Given the description of an element on the screen output the (x, y) to click on. 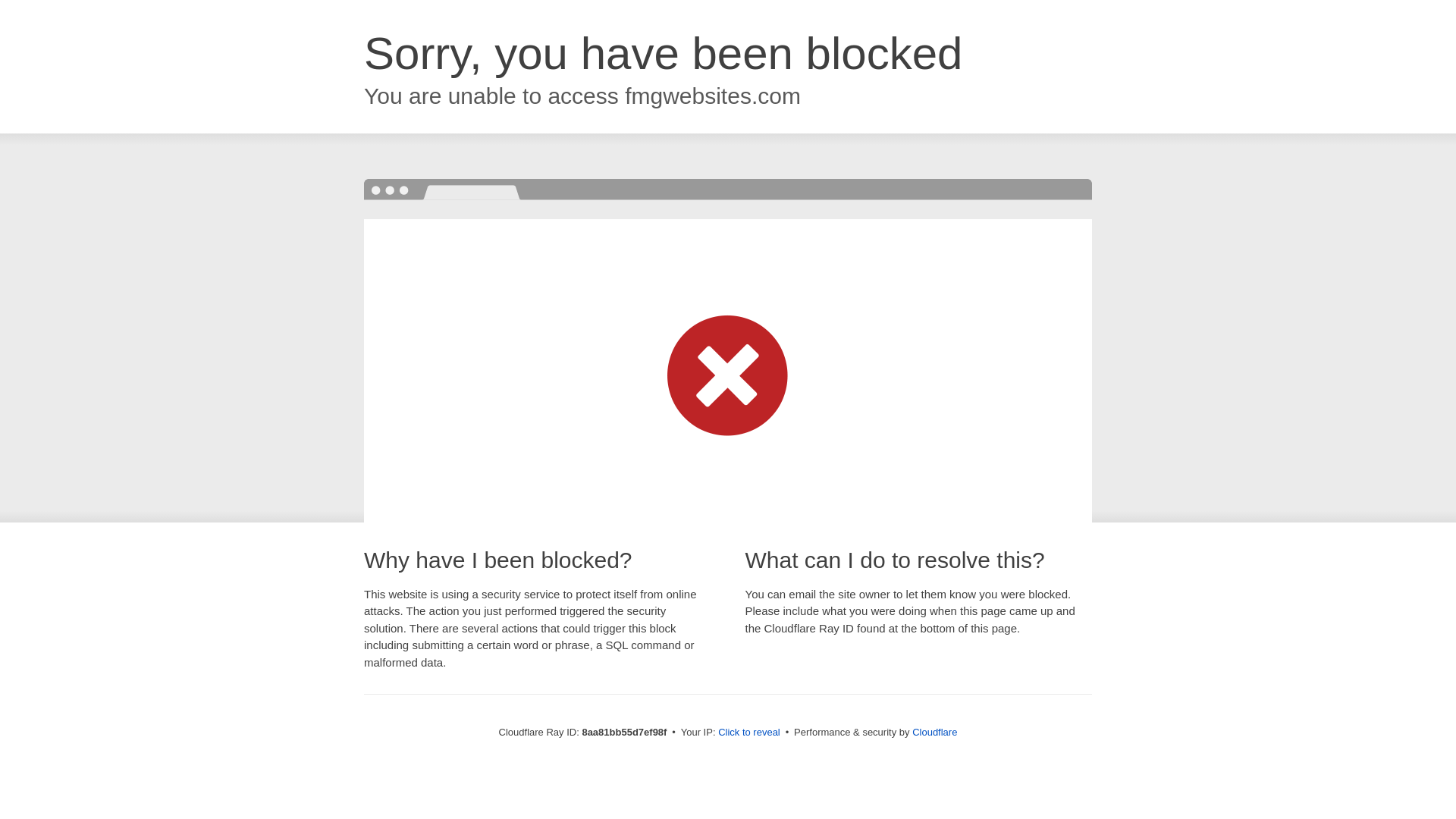
Click to reveal (748, 732)
Cloudflare (934, 731)
